Given the description of an element on the screen output the (x, y) to click on. 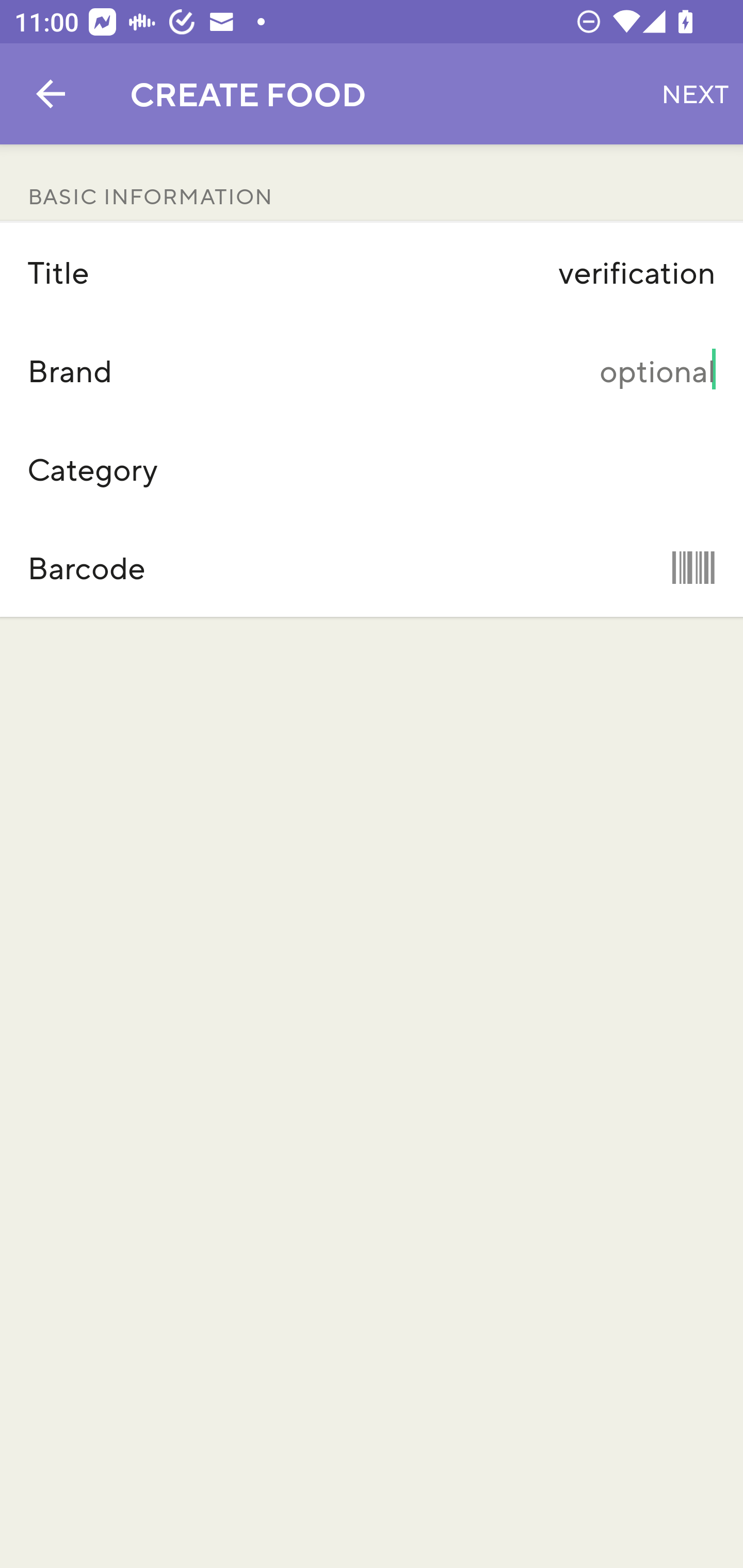
Navigate up (50, 93)
NEXT (695, 93)
verification (474, 271)
optional (474, 370)
Category (371, 469)
Barcode (371, 567)
